Given the description of an element on the screen output the (x, y) to click on. 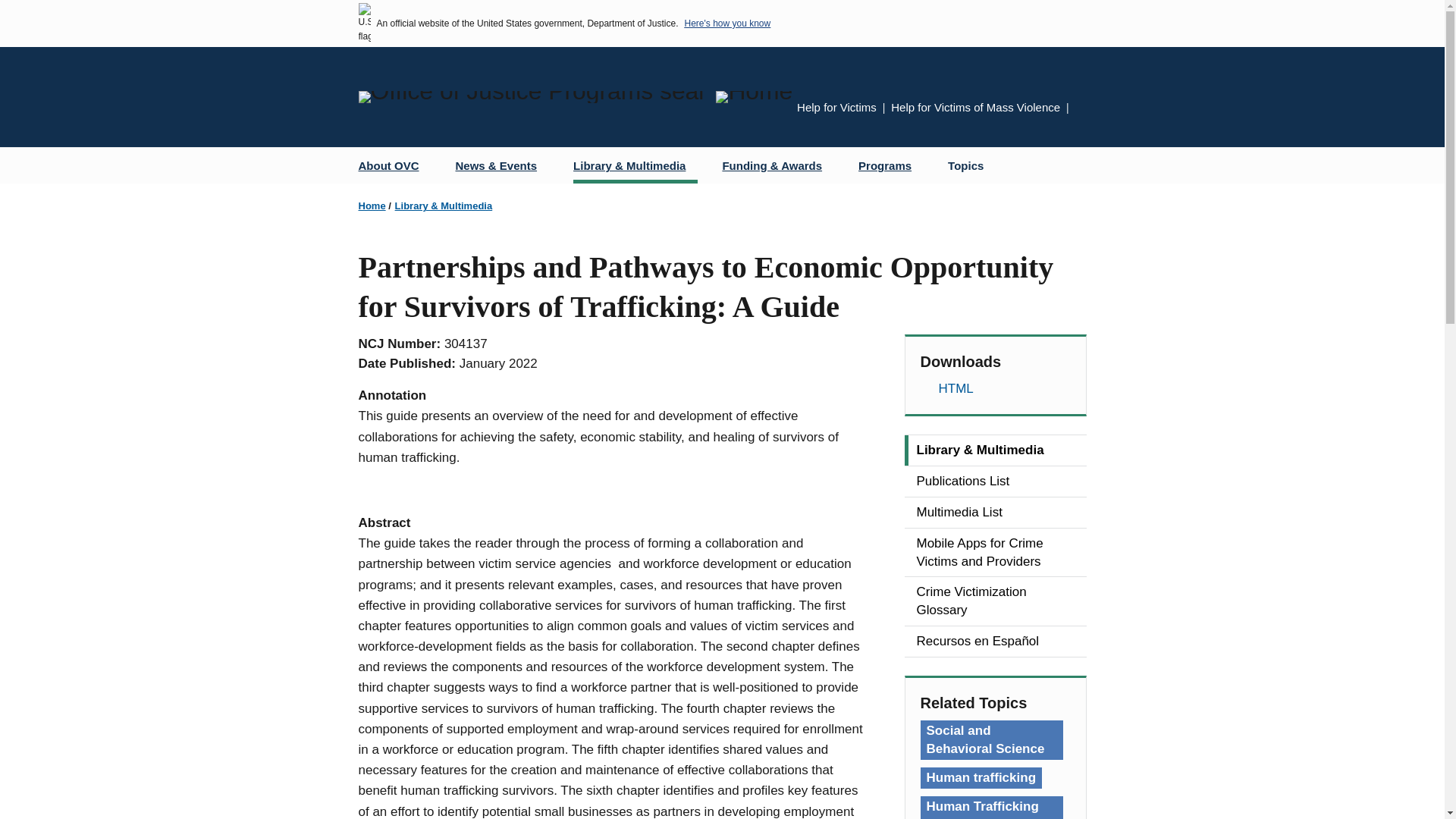
Multimedia List (995, 512)
Share (1080, 108)
Home (371, 205)
Crime Victimization Glossary (995, 601)
HTML (995, 388)
HTML (995, 388)
Topics (965, 165)
Help for Victims of Mass Violence (975, 107)
Human Trafficking Training and Technical Assistance Program (991, 807)
Programs (890, 165)
Human trafficking (981, 777)
Social and Behavioral Science (991, 740)
Office of Justice Programs (530, 96)
Home (754, 96)
